Given the description of an element on the screen output the (x, y) to click on. 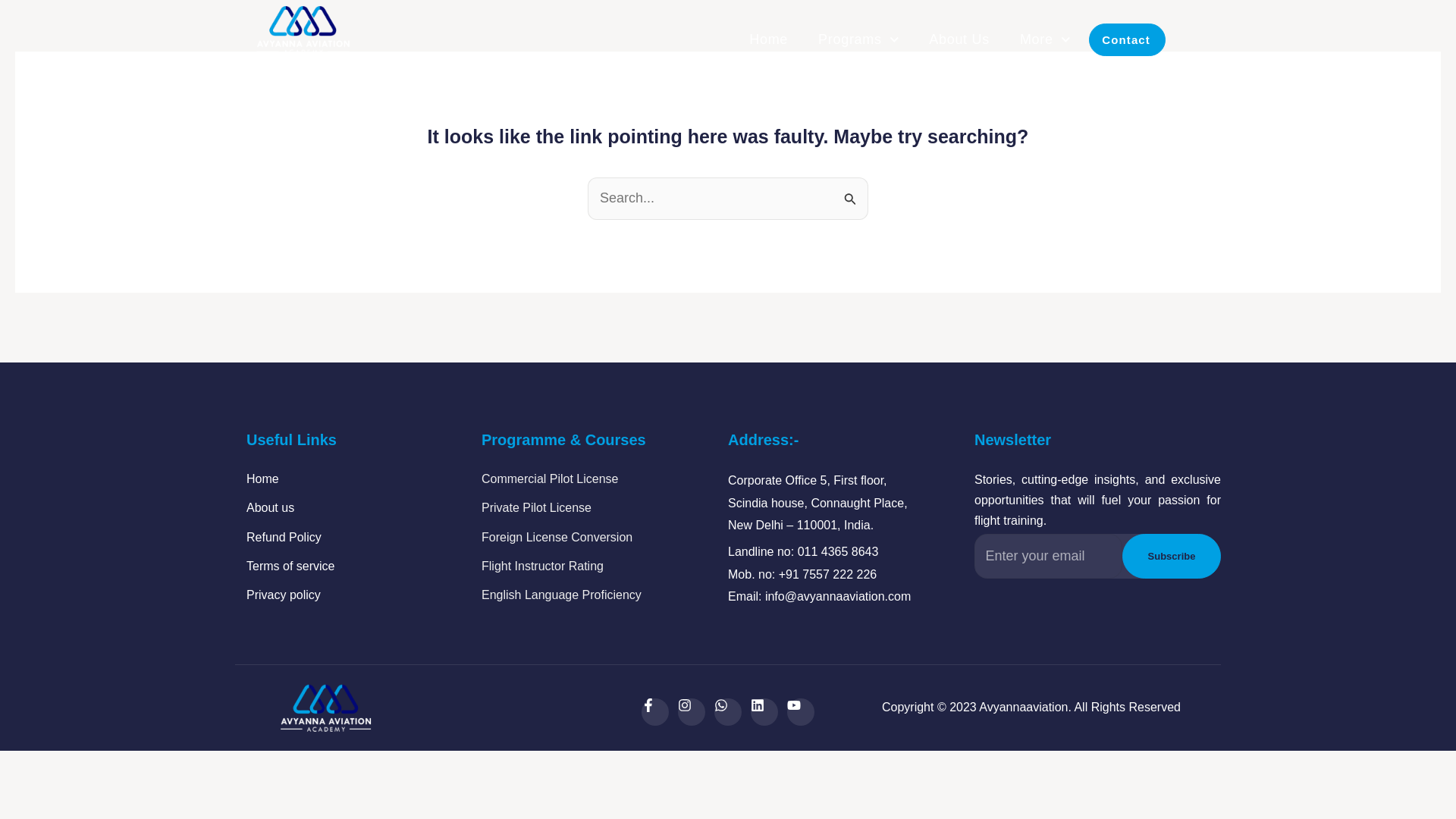
About Us (959, 39)
Contact (1127, 39)
AAA Logo even smaller COLOURFUL (325, 707)
Home (262, 478)
Programs (858, 39)
Home (768, 39)
More (1045, 39)
